Given the description of an element on the screen output the (x, y) to click on. 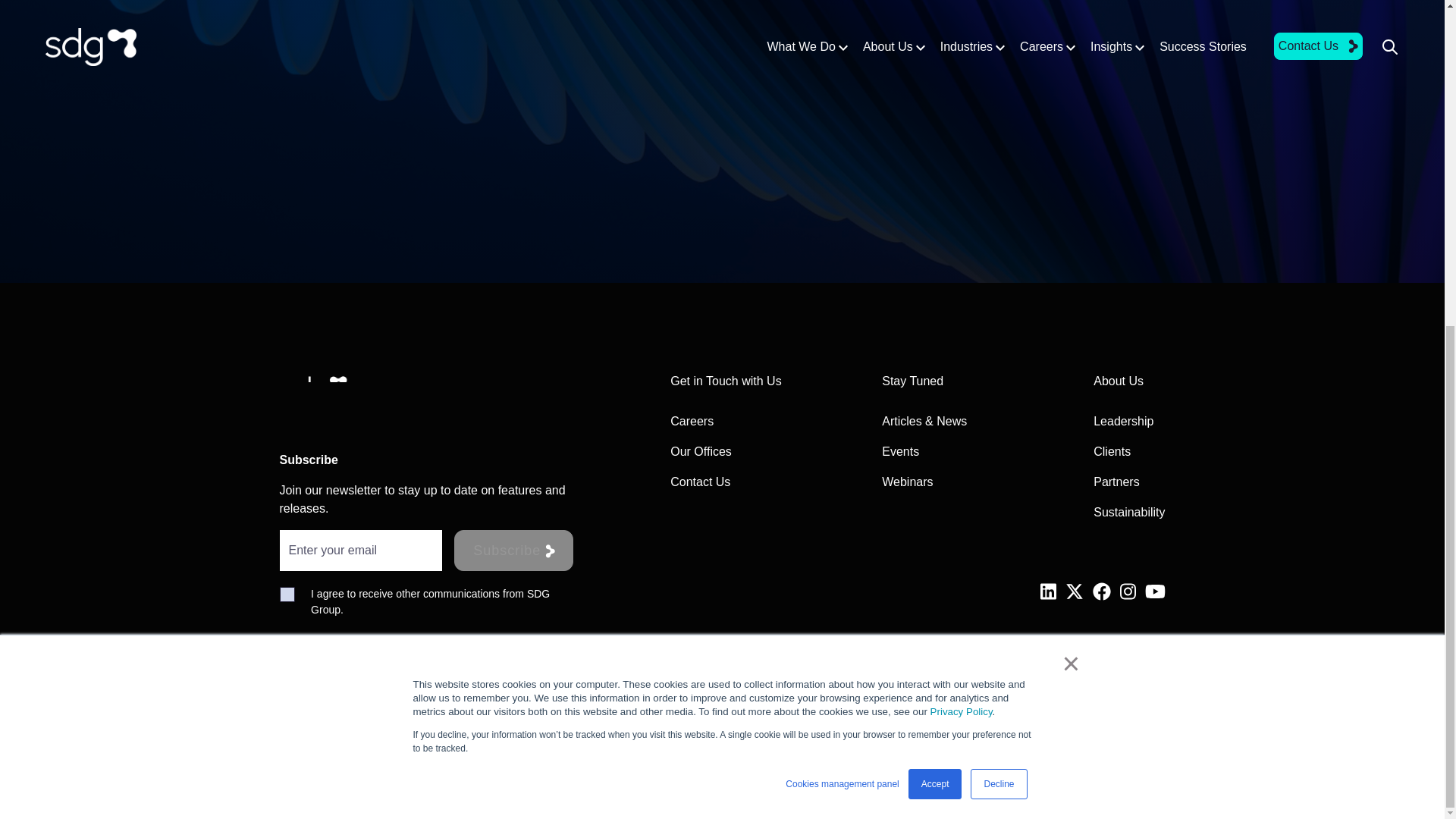
Accept (935, 247)
true (286, 594)
Decline (998, 247)
Subscribe (513, 549)
Cookies management panel (842, 247)
Privacy Policy (961, 174)
